Given the description of an element on the screen output the (x, y) to click on. 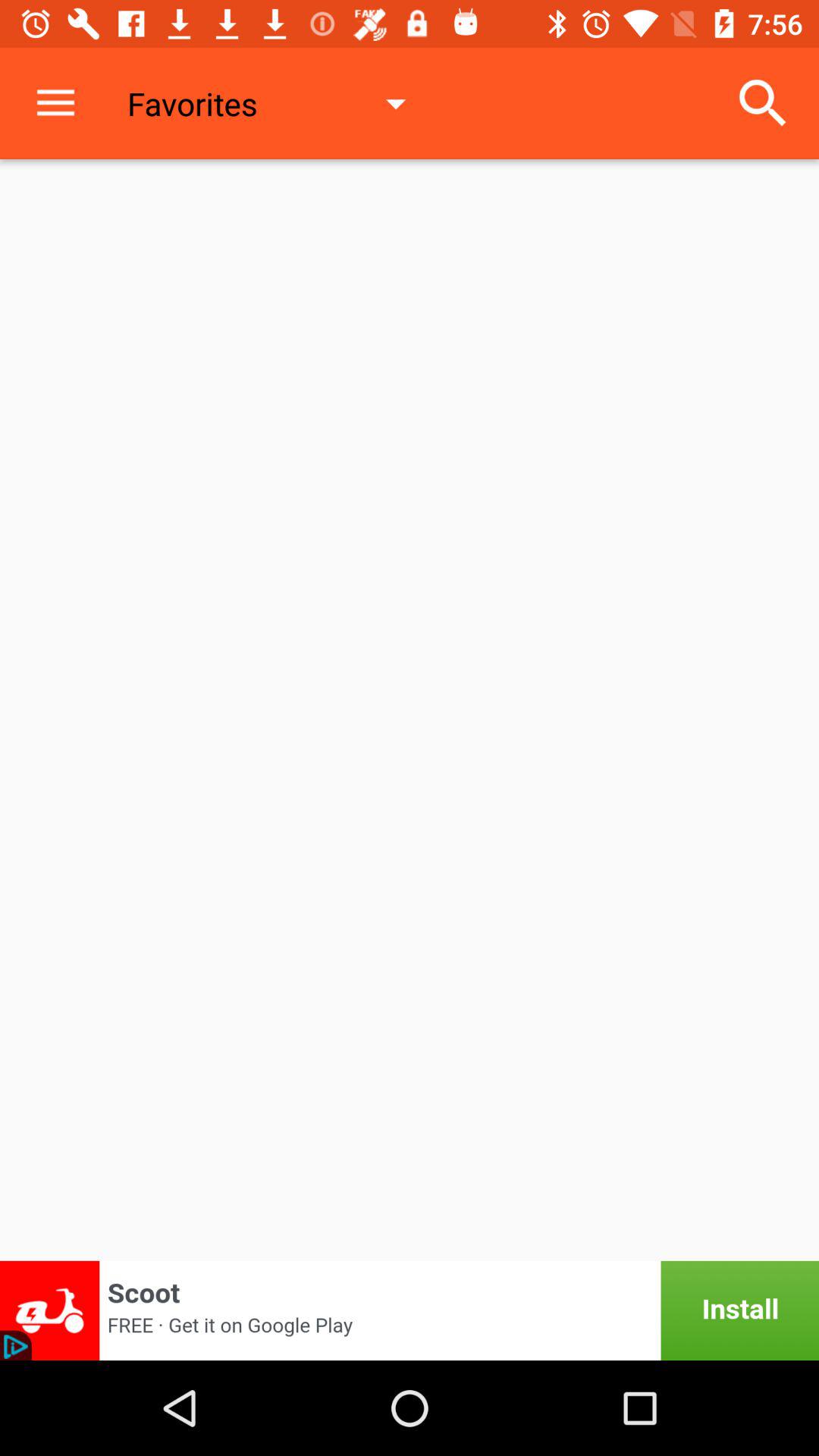
this is an advertisement (409, 1310)
